Given the description of an element on the screen output the (x, y) to click on. 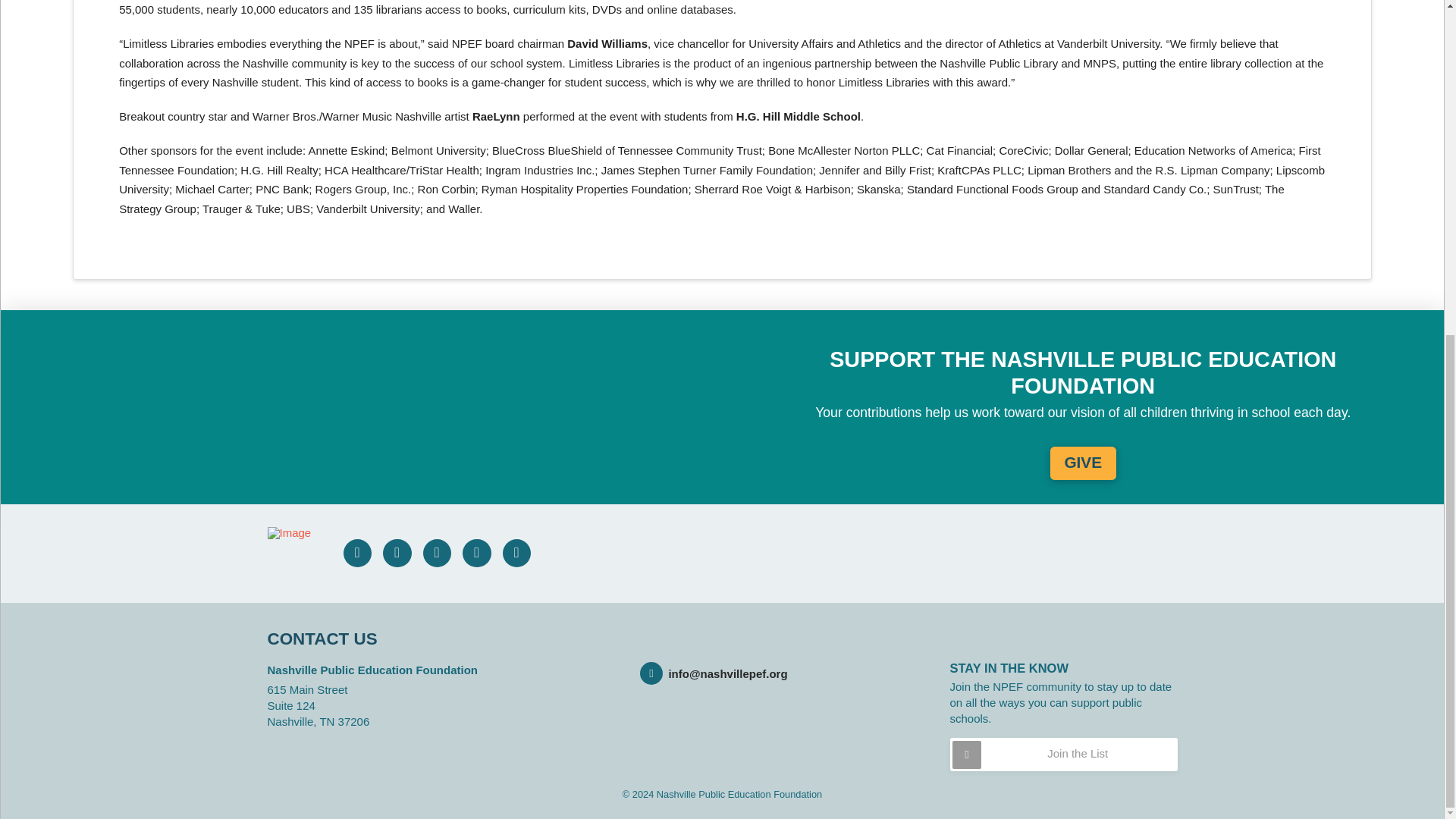
GIVE (1082, 462)
